Given the description of an element on the screen output the (x, y) to click on. 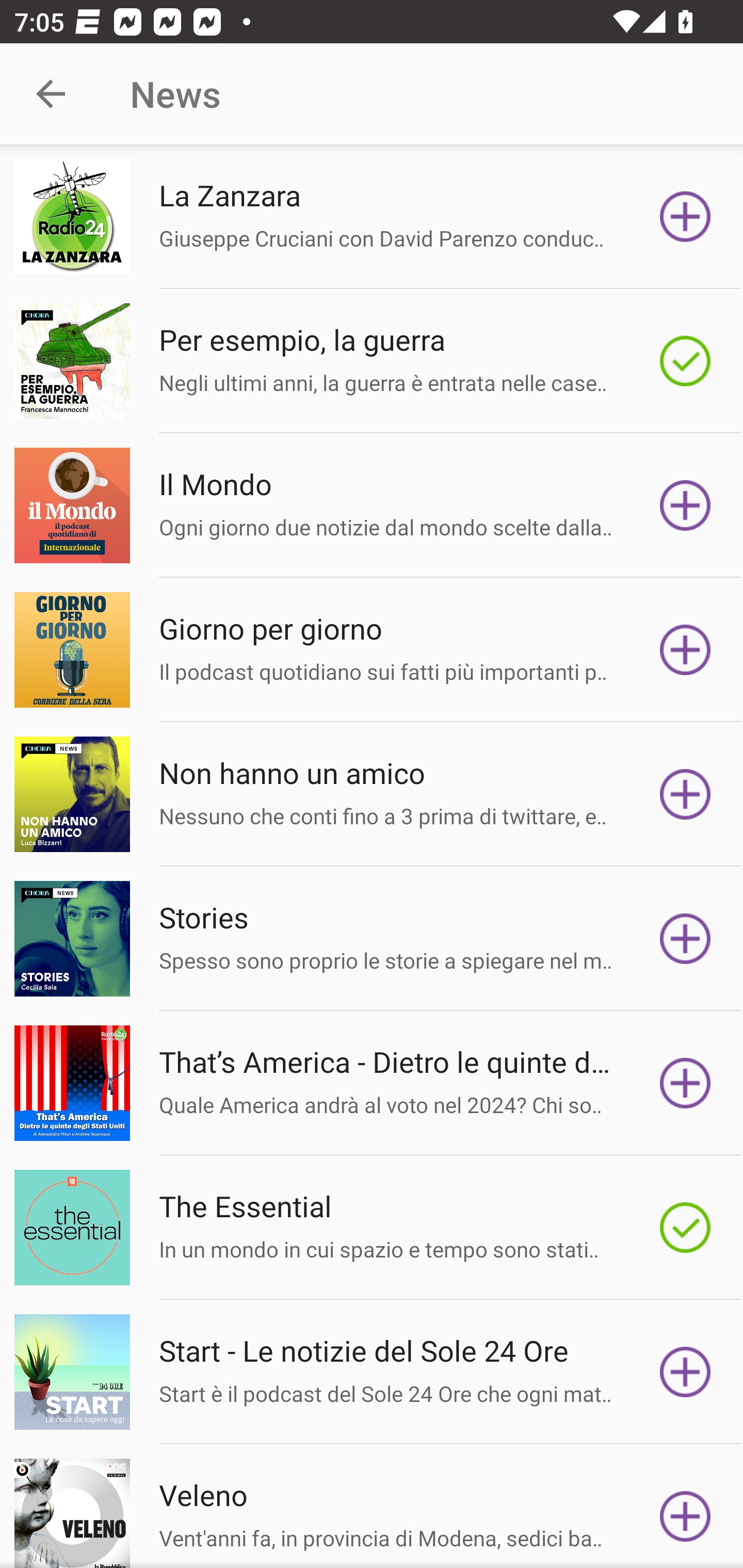
Navigate up (50, 93)
Subscribe (685, 216)
Subscribed (685, 360)
Subscribe (685, 505)
Subscribe (685, 649)
Subscribe (685, 793)
Subscribe (685, 939)
Subscribe (685, 1083)
Subscribed (685, 1227)
Subscribe (685, 1371)
Subscribe (685, 1513)
